Given the description of an element on the screen output the (x, y) to click on. 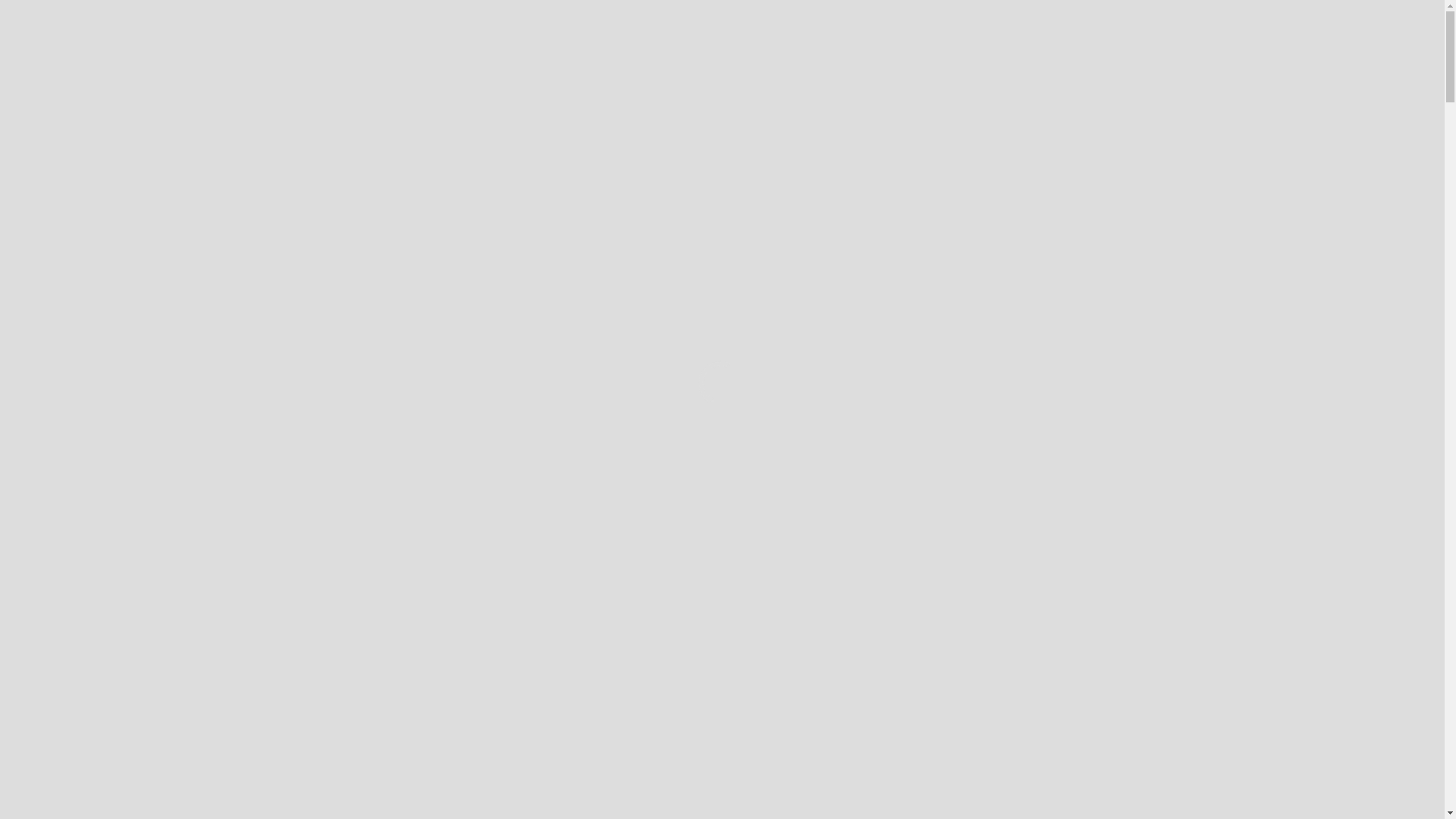
Back to all projects Element type: hover (33, 413)
Menu Element type: text (1355, 104)
